Given the description of an element on the screen output the (x, y) to click on. 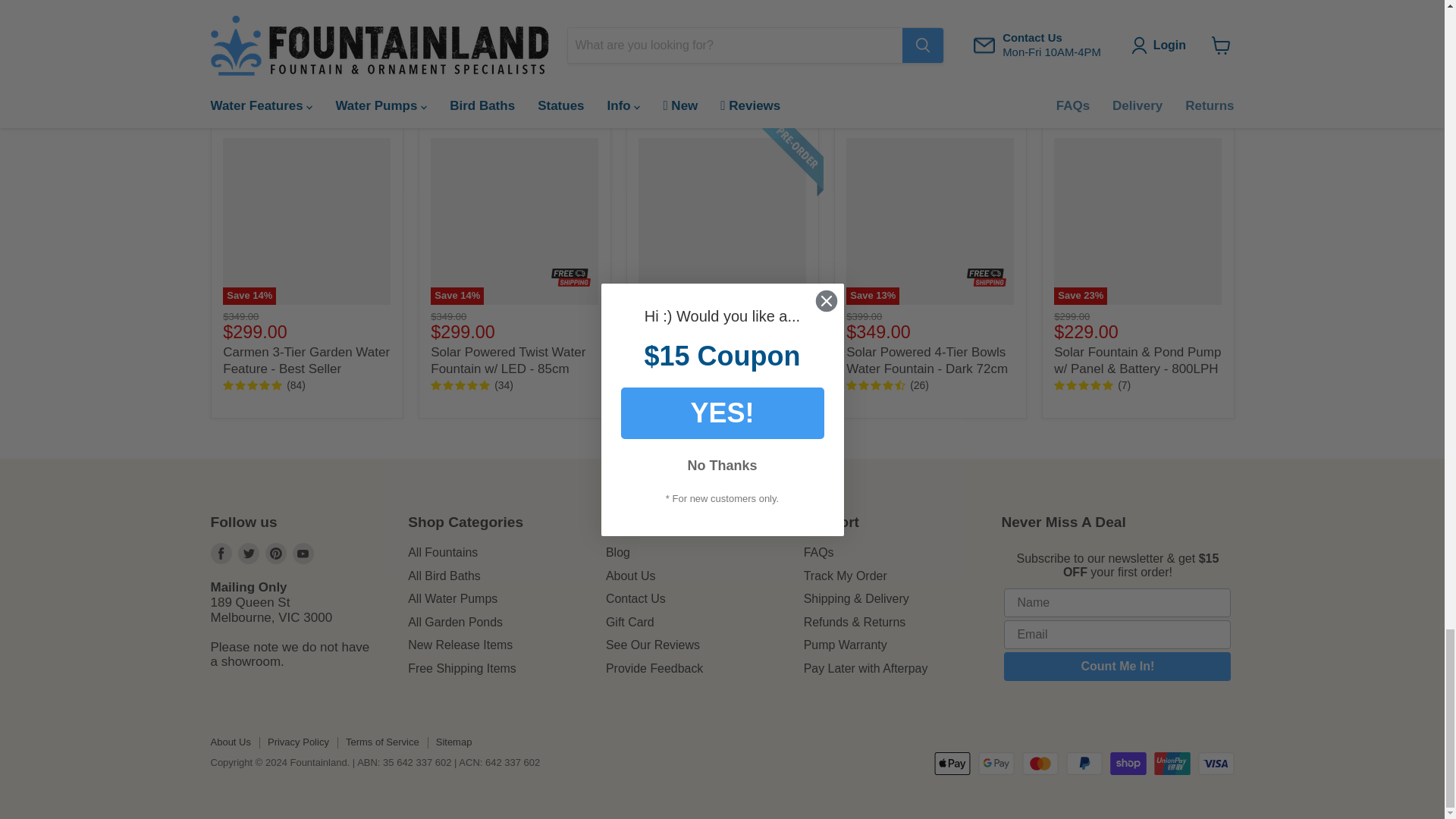
Pinterest (275, 553)
Youtube (303, 553)
Product reviews widget (722, 14)
Facebook (221, 553)
Twitter (248, 553)
